Given the description of an element on the screen output the (x, y) to click on. 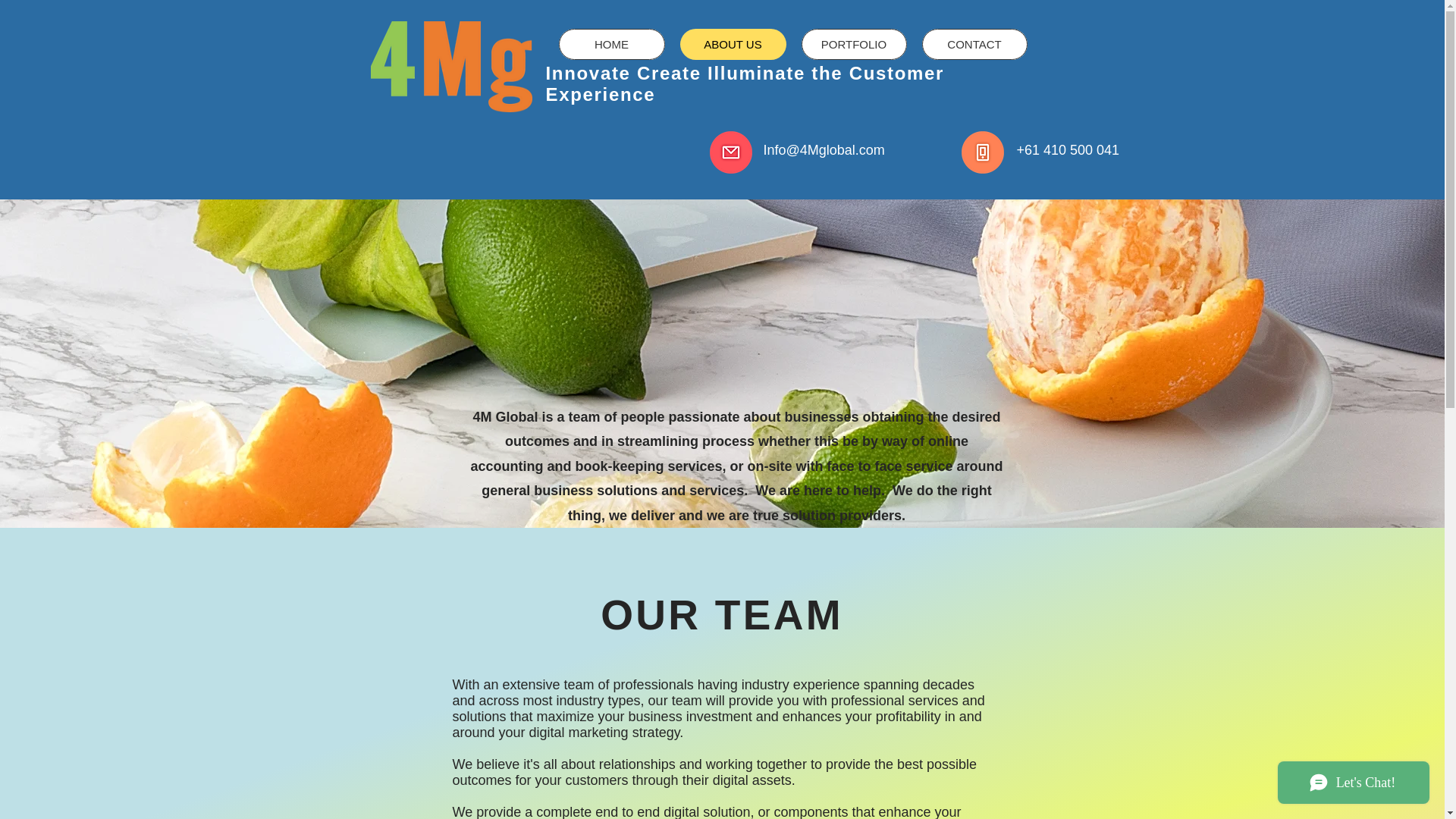
PORTFOLIO (852, 43)
ABOUT US (732, 43)
Innovate Create Illuminate the Customer Experience (745, 83)
HOME (610, 43)
CONTACT (974, 43)
